Given the description of an element on the screen output the (x, y) to click on. 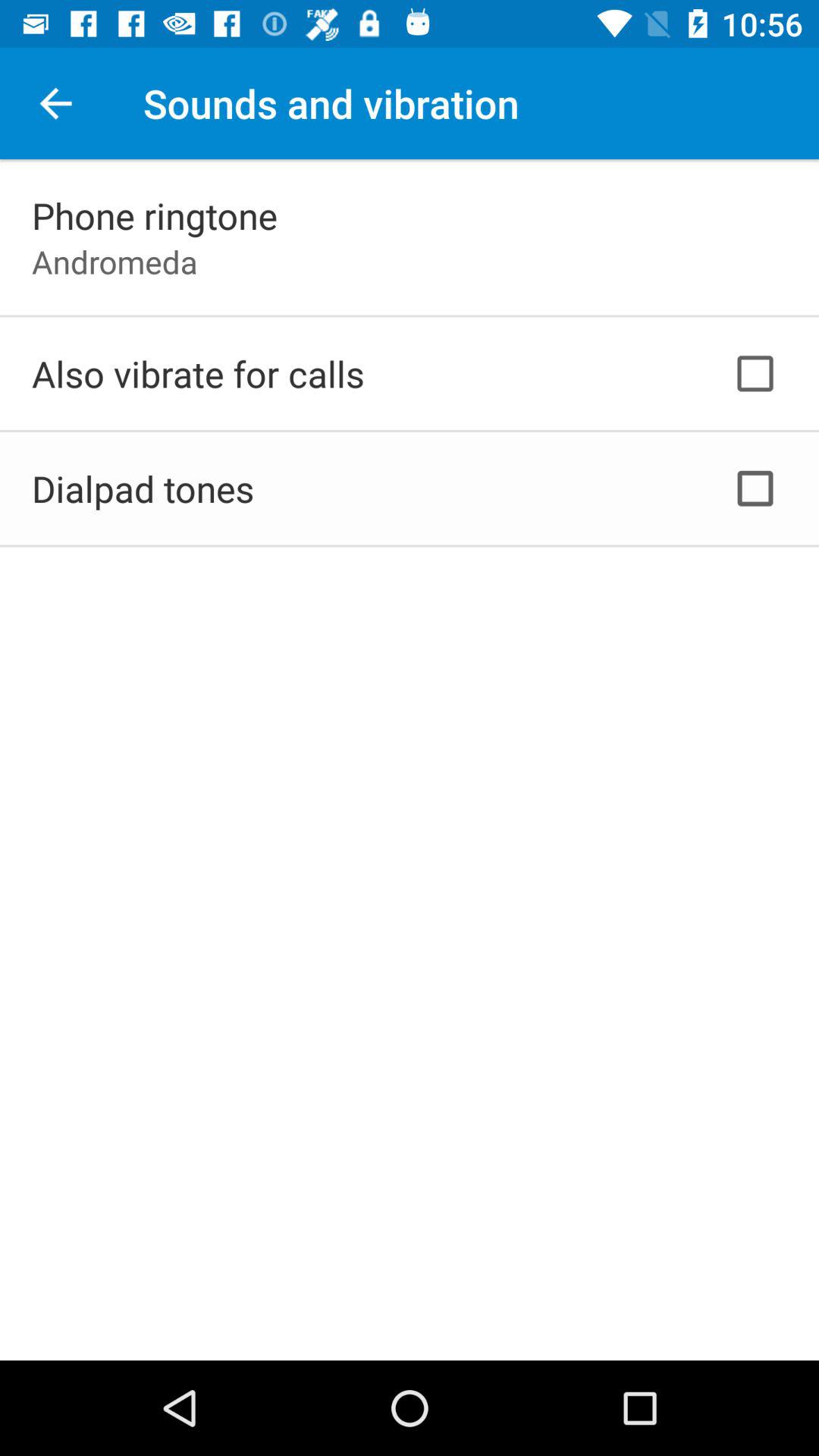
open dialpad tones icon (142, 488)
